Given the description of an element on the screen output the (x, y) to click on. 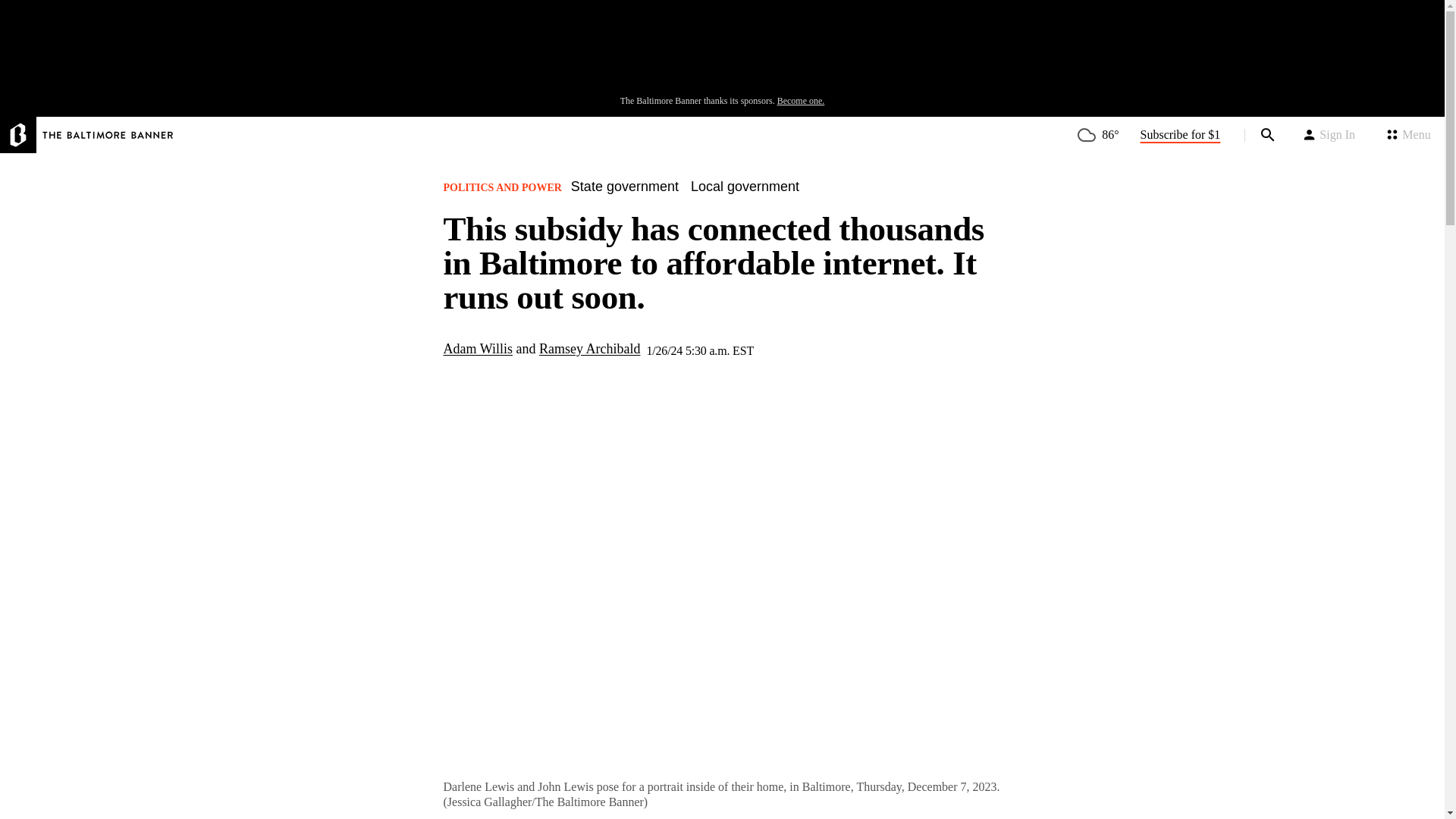
3rd party ad content (721, 52)
POLITICS AND POWERState governmentLocal government (626, 191)
Sign In (1328, 135)
Become one. (801, 100)
